Given the description of an element on the screen output the (x, y) to click on. 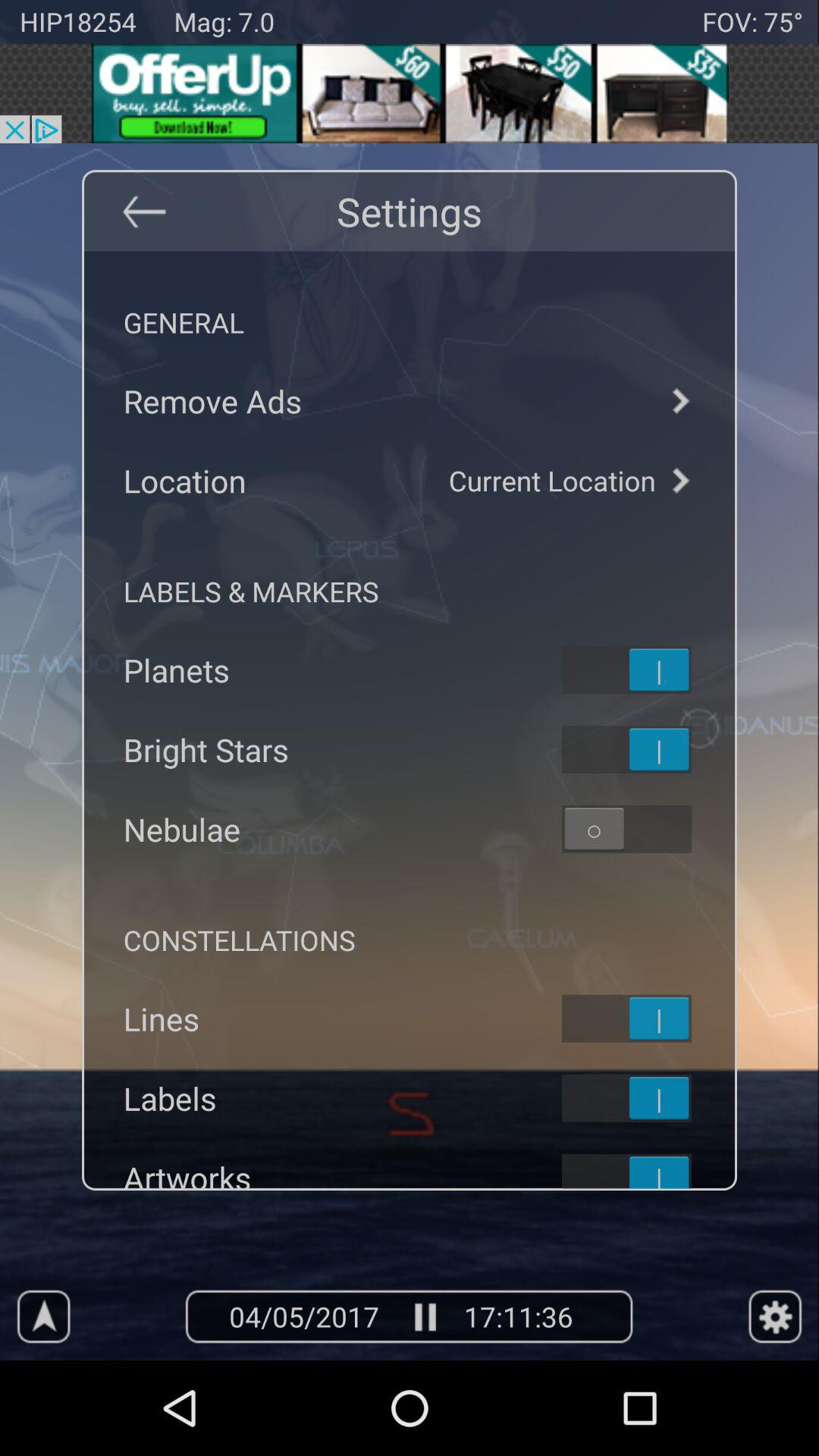
to select labels (646, 1098)
